Given the description of an element on the screen output the (x, y) to click on. 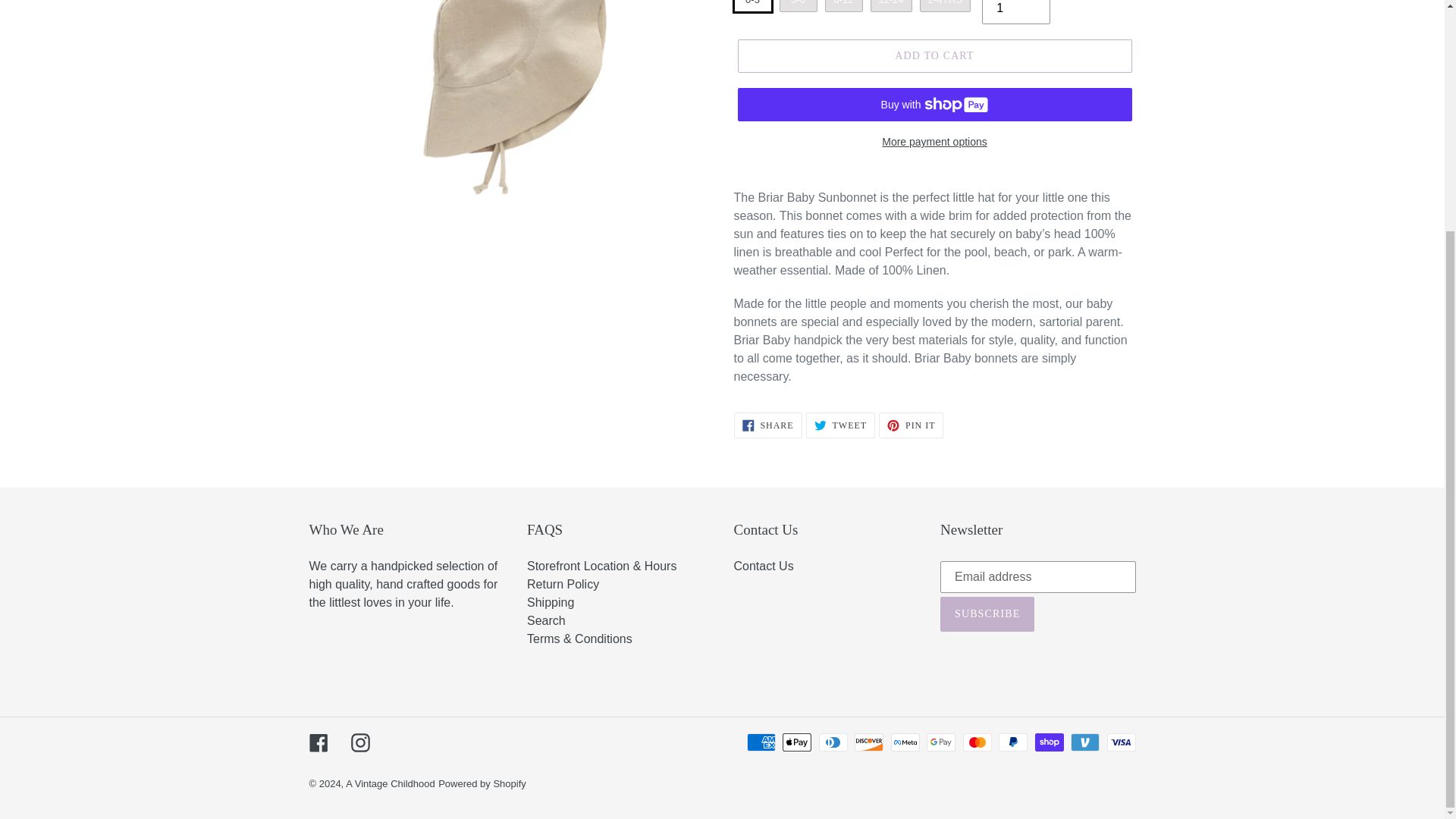
1 (1015, 12)
